Given the description of an element on the screen output the (x, y) to click on. 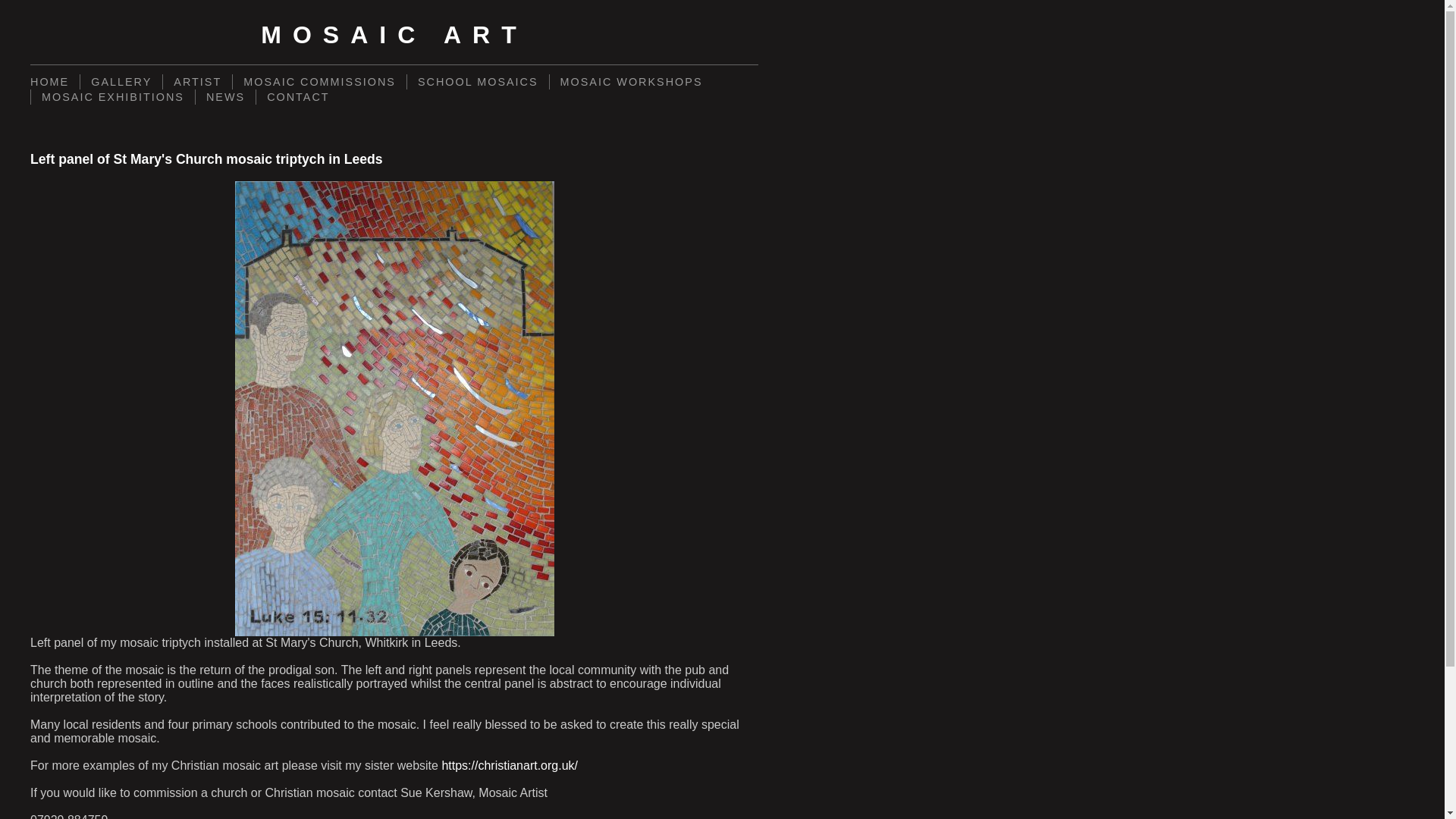
MOSAIC WORKSHOPS (630, 81)
GALLERY (120, 81)
MOSAIC COMMISSIONS (318, 81)
MOSAIC EXHIBITIONS (112, 96)
SCHOOL MOSAICS (477, 81)
NEWS (225, 96)
CONTACT (297, 96)
HOME (55, 81)
ARTIST (196, 81)
MOSAIC ART (393, 34)
